Given the description of an element on the screen output the (x, y) to click on. 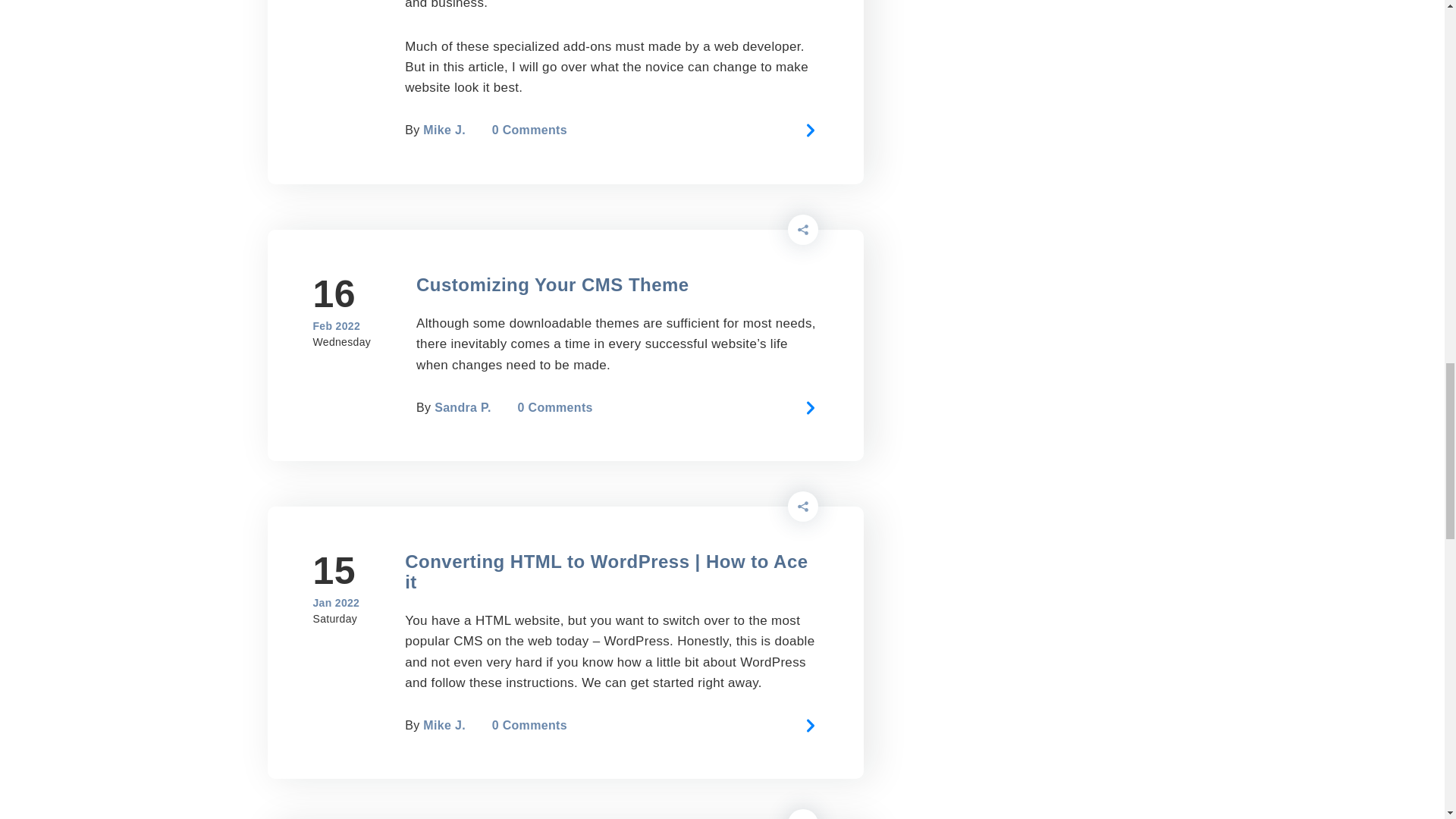
Mike J. (444, 129)
